Given the description of an element on the screen output the (x, y) to click on. 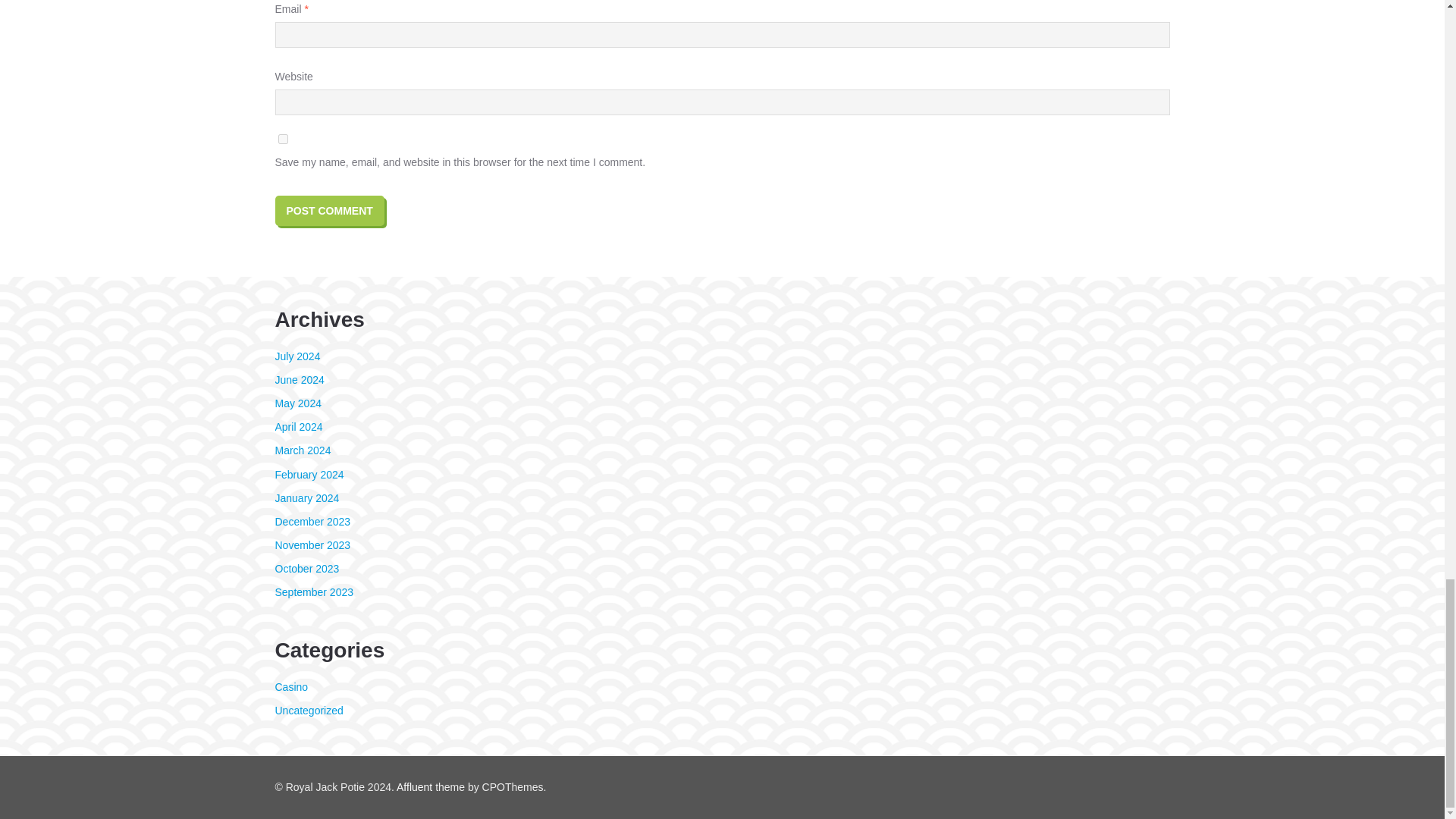
January 2024 (307, 498)
November 2023 (312, 544)
Uncategorized (308, 710)
July 2024 (297, 356)
Post Comment (329, 210)
June 2024 (299, 379)
March 2024 (302, 450)
October 2023 (307, 568)
Post Comment (329, 210)
Affluent (414, 787)
December 2023 (312, 521)
Casino (291, 686)
February 2024 (309, 474)
April 2024 (298, 426)
May 2024 (297, 403)
